Given the description of an element on the screen output the (x, y) to click on. 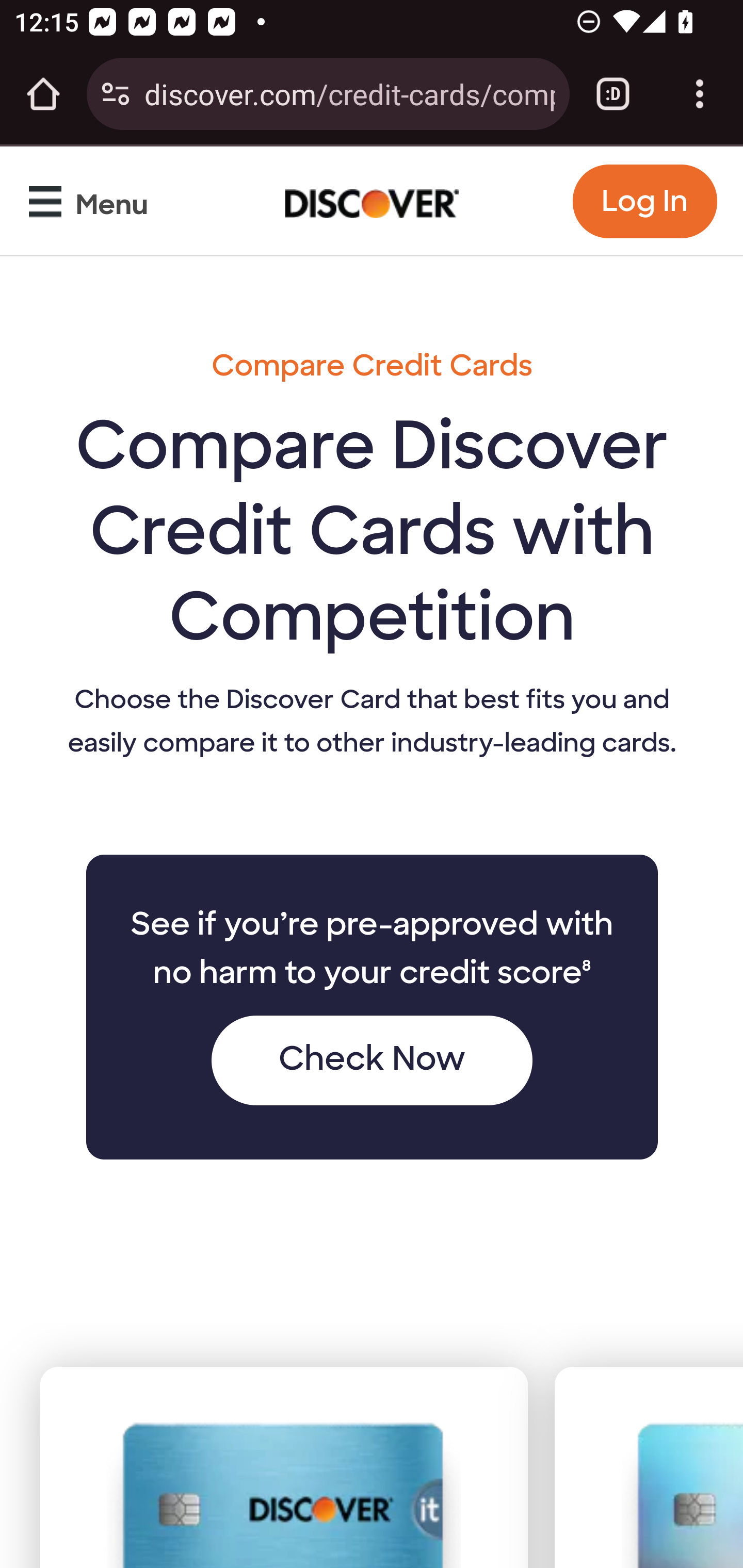
Open the home page (43, 93)
Connection is secure (115, 93)
Switch or close tabs (612, 93)
Customize and control Google Chrome (699, 93)
discover.com/credit-cards/compare/ (349, 92)
discover logo (372, 199)
Log In Opens modal dialog (644, 201)
Menu (92, 206)
Check Now (370, 1060)
Discover it® Cashback Credit Card (284, 1494)
